Given the description of an element on the screen output the (x, y) to click on. 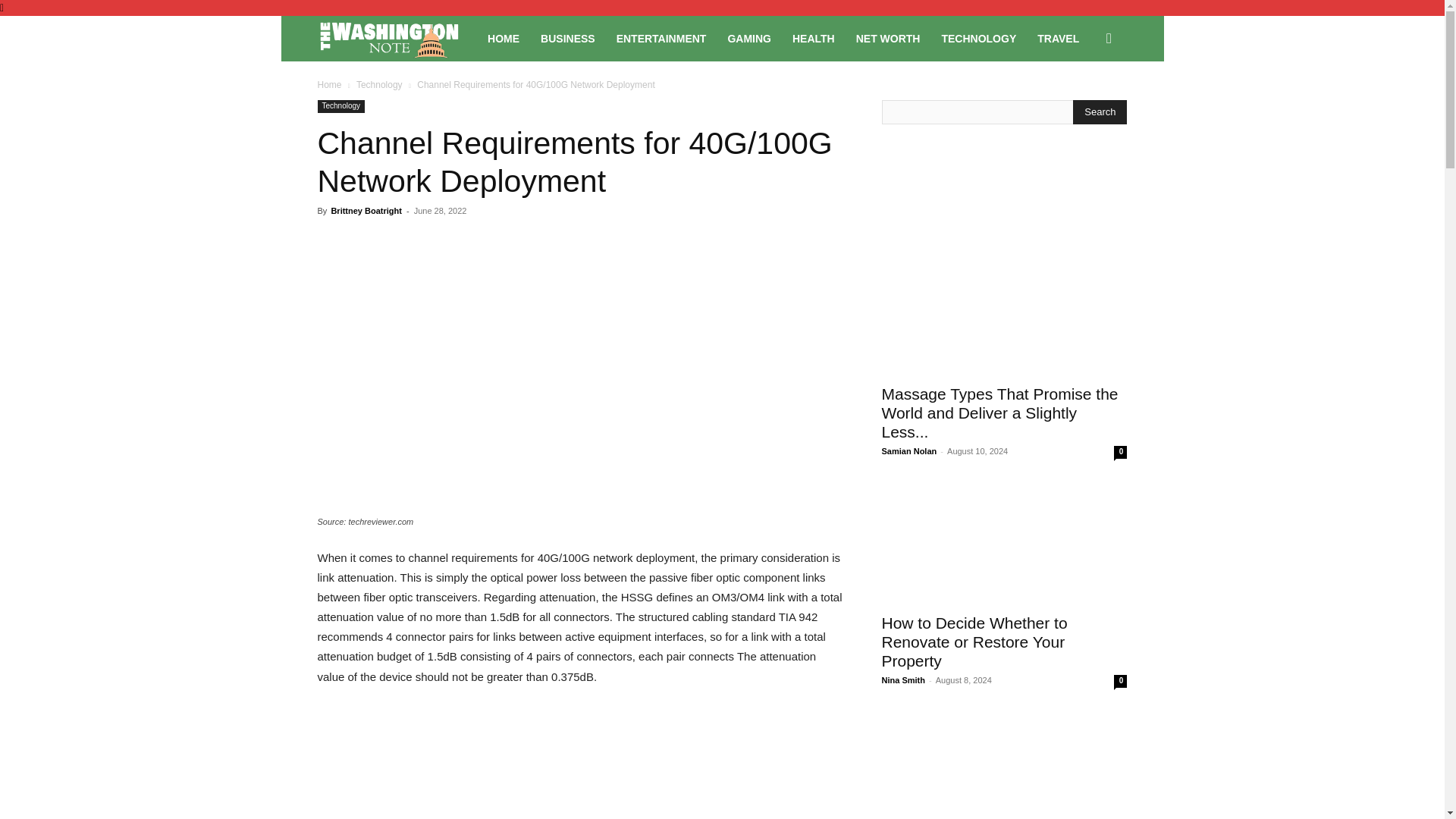
HEALTH (813, 38)
Technology (341, 106)
BUSINESS (567, 38)
Technology (379, 84)
NET WORTH (888, 38)
View all posts in Technology (379, 84)
Brittney Boatright (365, 210)
Search (1099, 111)
The Washington Note (397, 38)
TECHNOLOGY (978, 38)
